Given the description of an element on the screen output the (x, y) to click on. 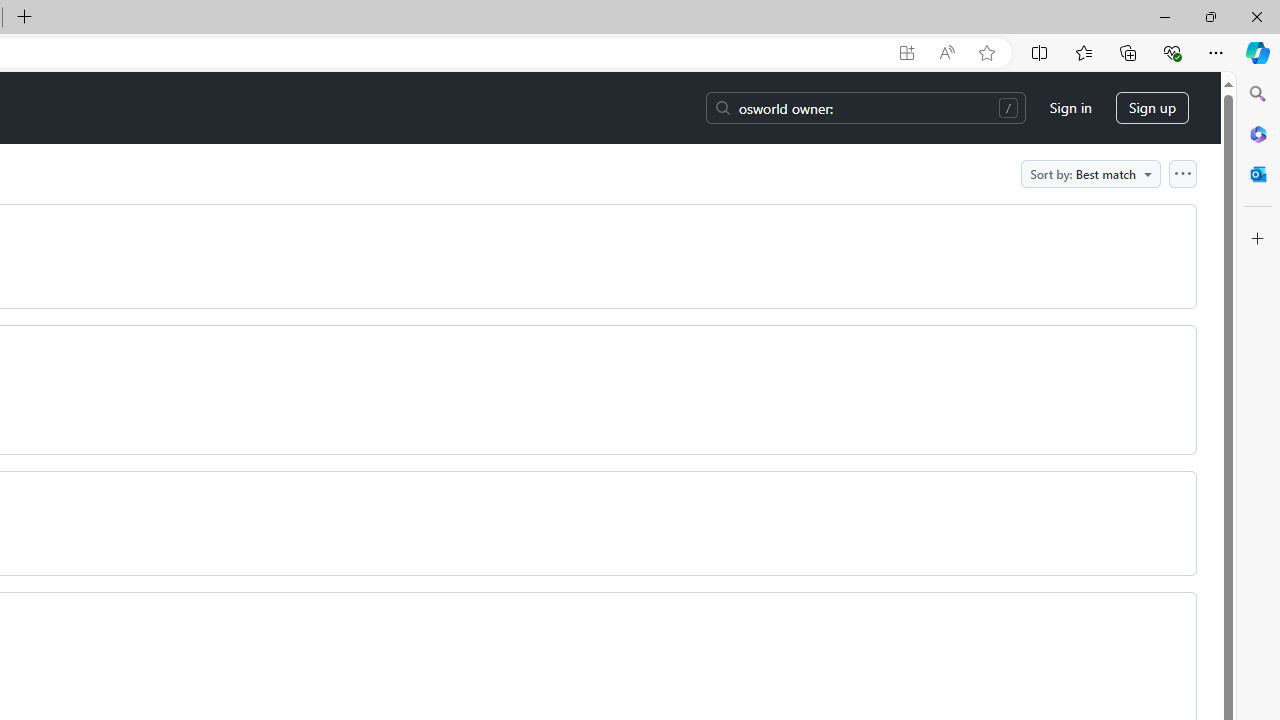
Sort by: Best match (1090, 173)
